Given the description of an element on the screen output the (x, y) to click on. 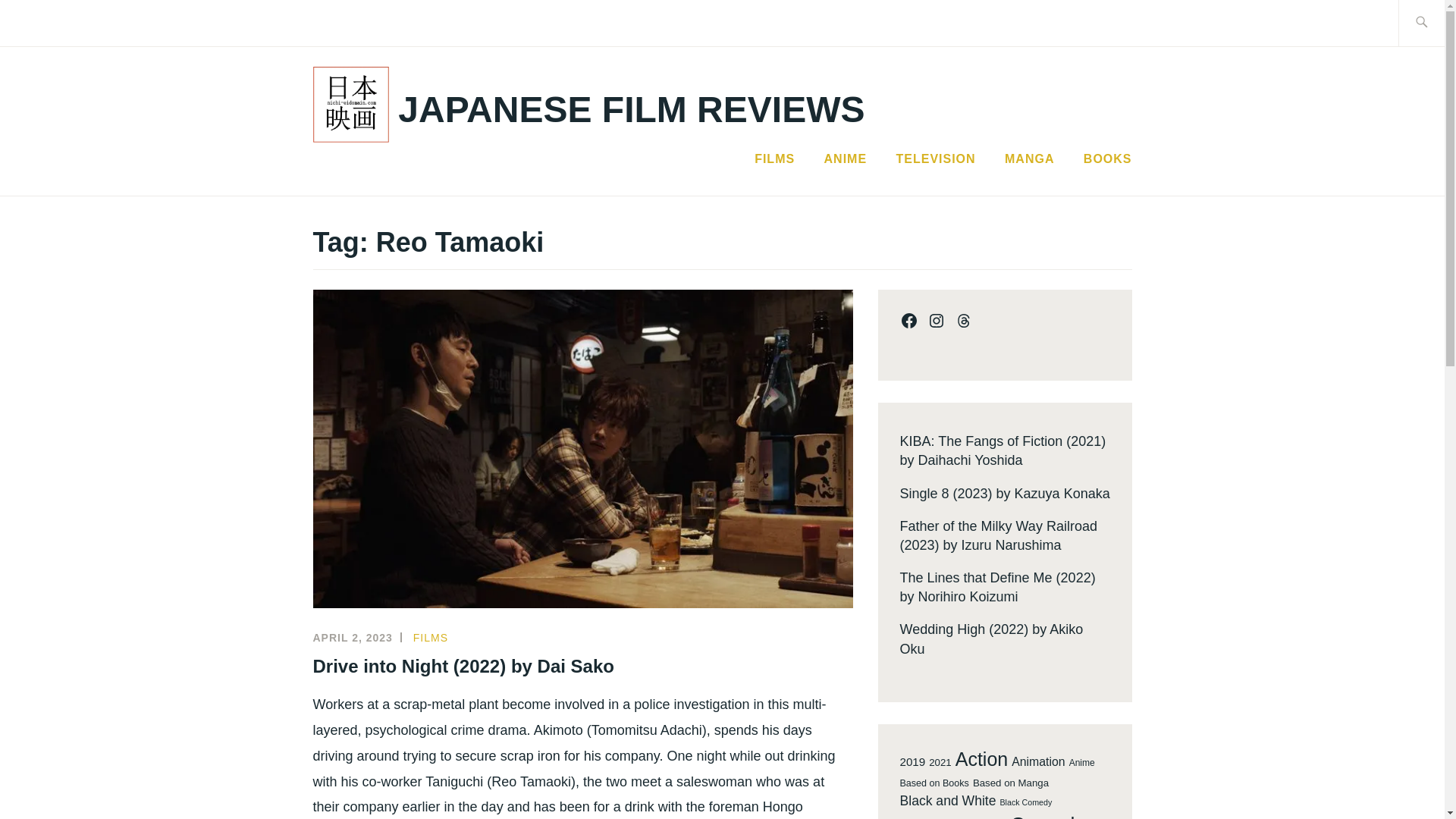
Children (981, 818)
Based on Books (933, 784)
2019 (911, 761)
Action (981, 759)
Facebook (908, 321)
2021 (939, 762)
MANGA (1029, 159)
Animation (1037, 761)
Comedy (1047, 814)
Threads (962, 321)
Based on Manga (1010, 783)
Anime (1081, 762)
JAPANESE FILM REVIEWS (630, 109)
Instagram (935, 321)
FILMS (430, 637)
